Given the description of an element on the screen output the (x, y) to click on. 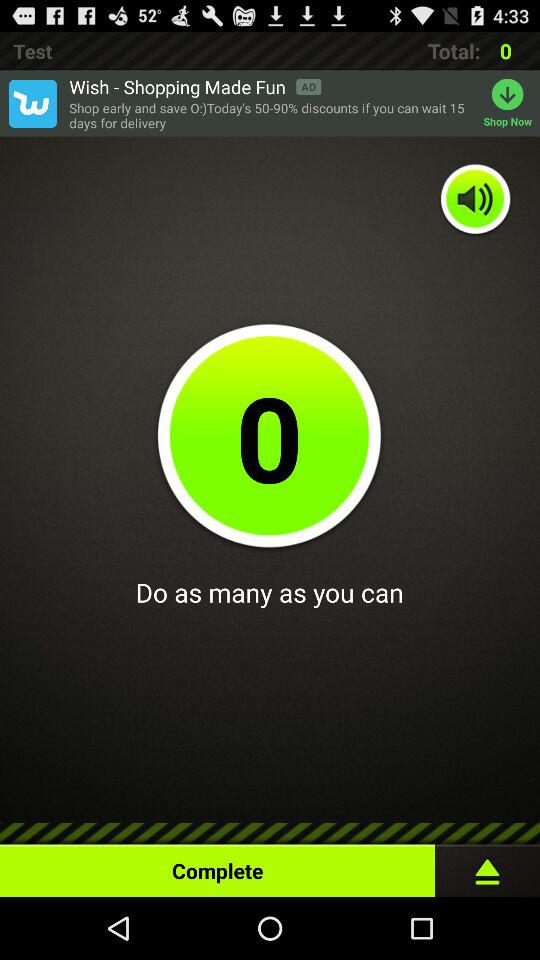
launch icon next to the shop early and (511, 103)
